Given the description of an element on the screen output the (x, y) to click on. 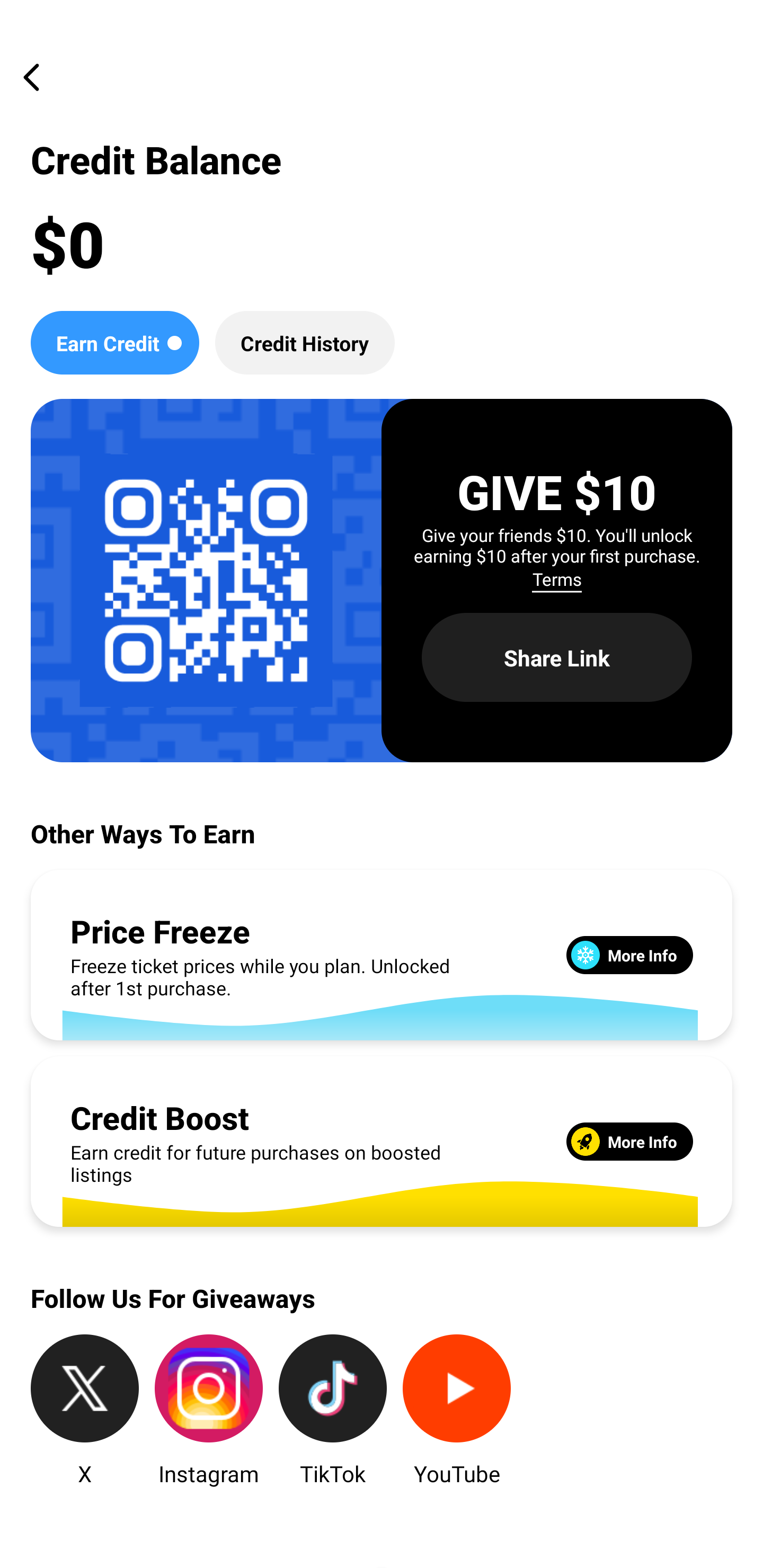
Earn Credit (114, 342)
Credit History (304, 342)
Share Link (556, 657)
More Info (629, 954)
More Info (629, 1141)
X (84, 1411)
Instagram (208, 1411)
TikTok (332, 1411)
YouTube (456, 1411)
